Given the description of an element on the screen output the (x, y) to click on. 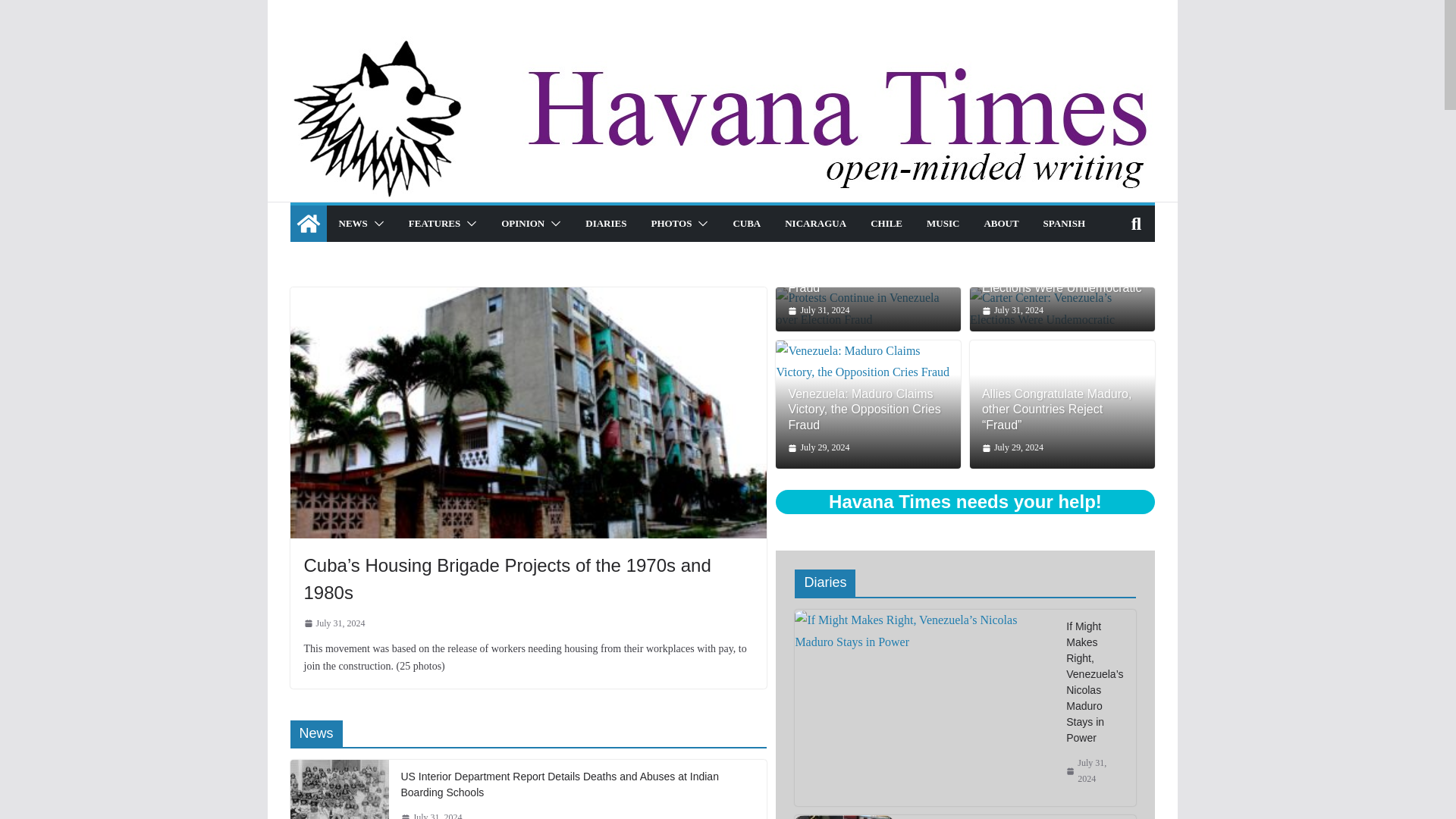
NEWS (351, 223)
July 31, 2024 (333, 623)
CHILE (886, 223)
July 31, 2024 (430, 814)
5:53 pm (333, 623)
CUBA (746, 223)
Havana Times (721, 46)
ABOUT (1000, 223)
MUSIC (942, 223)
Havana Times (307, 223)
NICARAGUA (814, 223)
SPANISH (1063, 223)
